Given the description of an element on the screen output the (x, y) to click on. 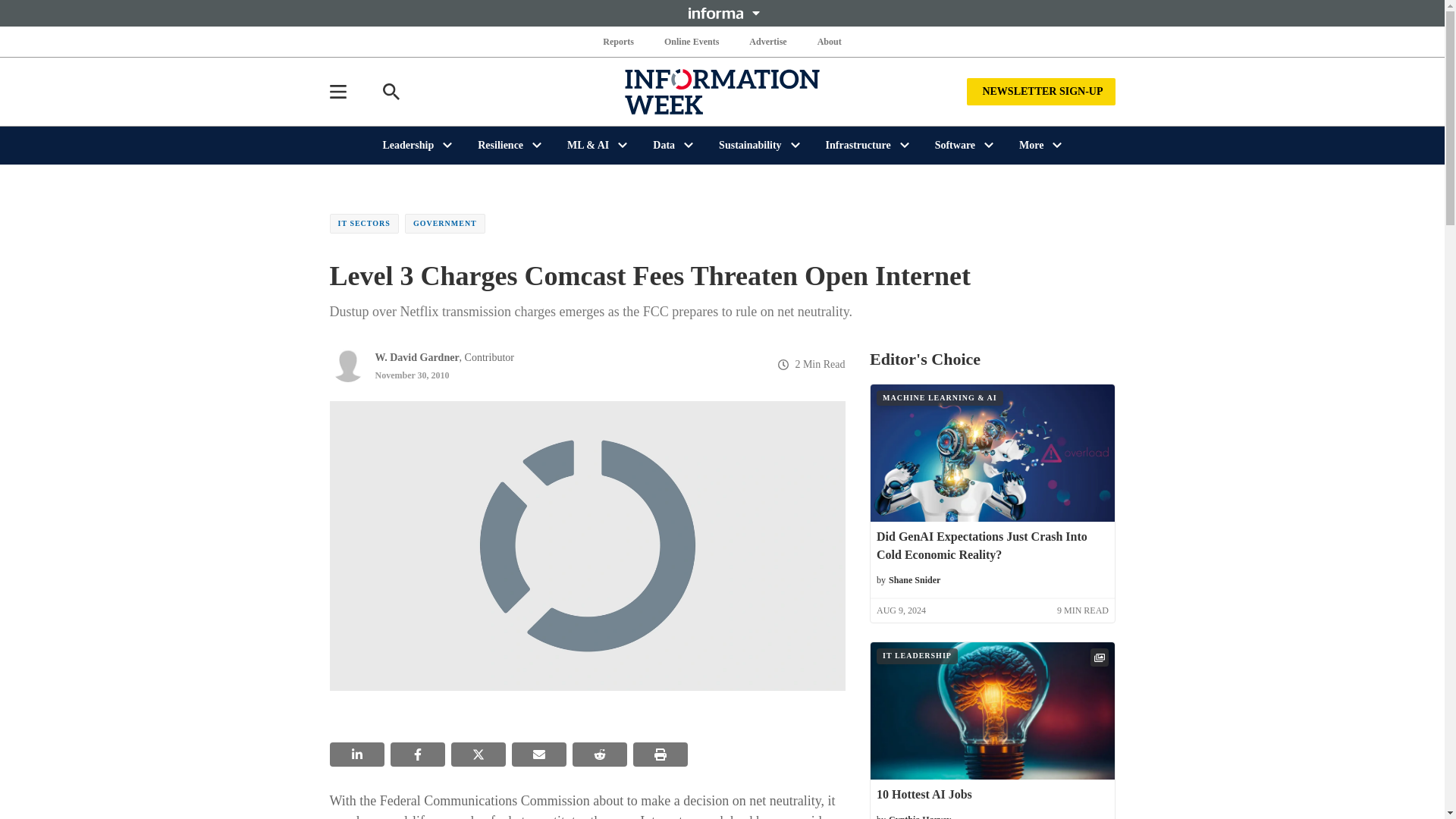
Reports (618, 41)
Picture of W. David Gardner (347, 364)
Advertise (767, 41)
About (828, 41)
NEWSLETTER SIGN-UP (1040, 90)
Online Events (691, 41)
InformationWeek (722, 91)
